Given the description of an element on the screen output the (x, y) to click on. 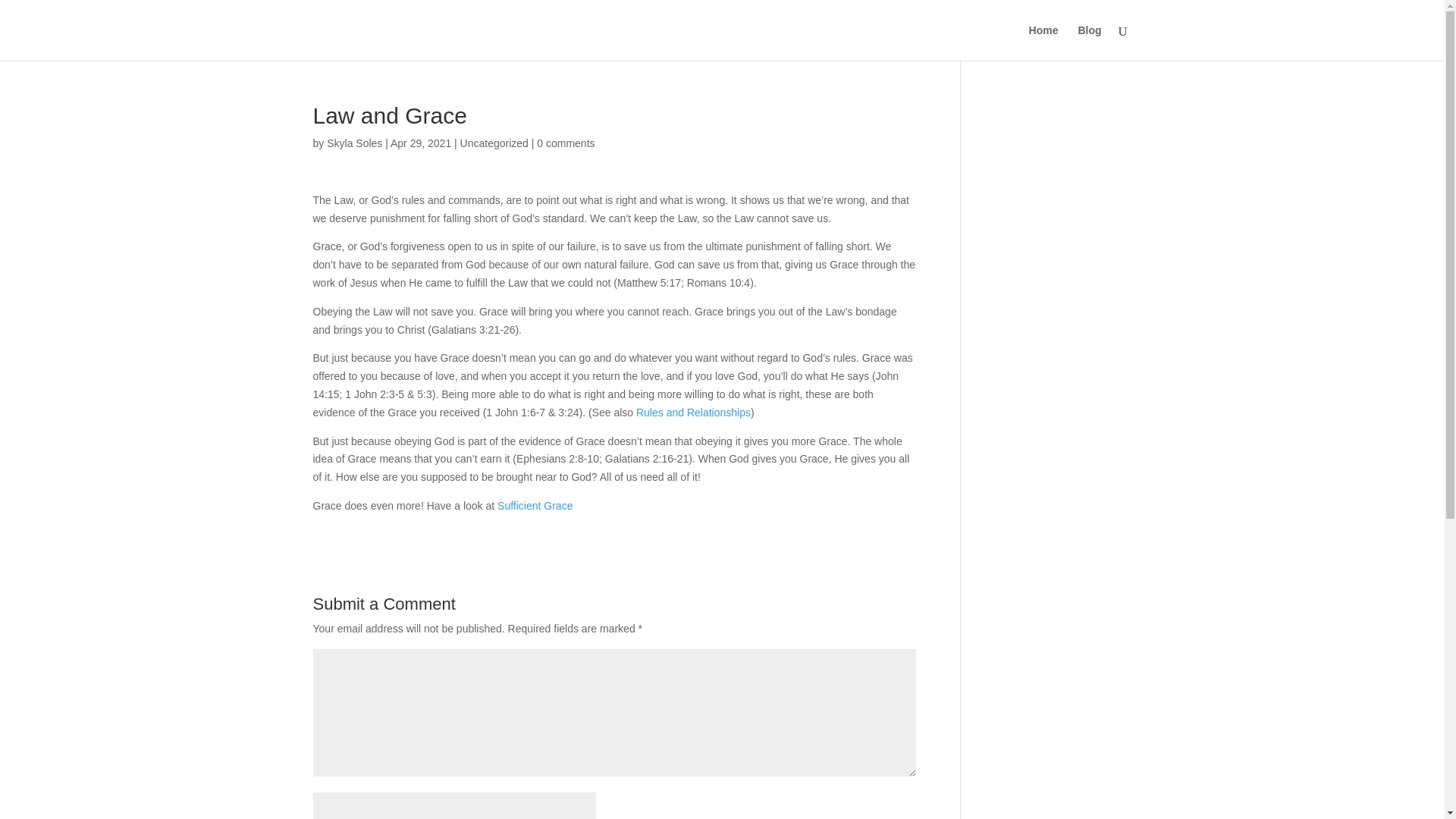
Posts by Skyla Soles (353, 143)
Rules and Relationships (693, 412)
0 comments (565, 143)
Uncategorized (494, 143)
Sufficient Grace (534, 505)
Skyla Soles (353, 143)
